Given the description of an element on the screen output the (x, y) to click on. 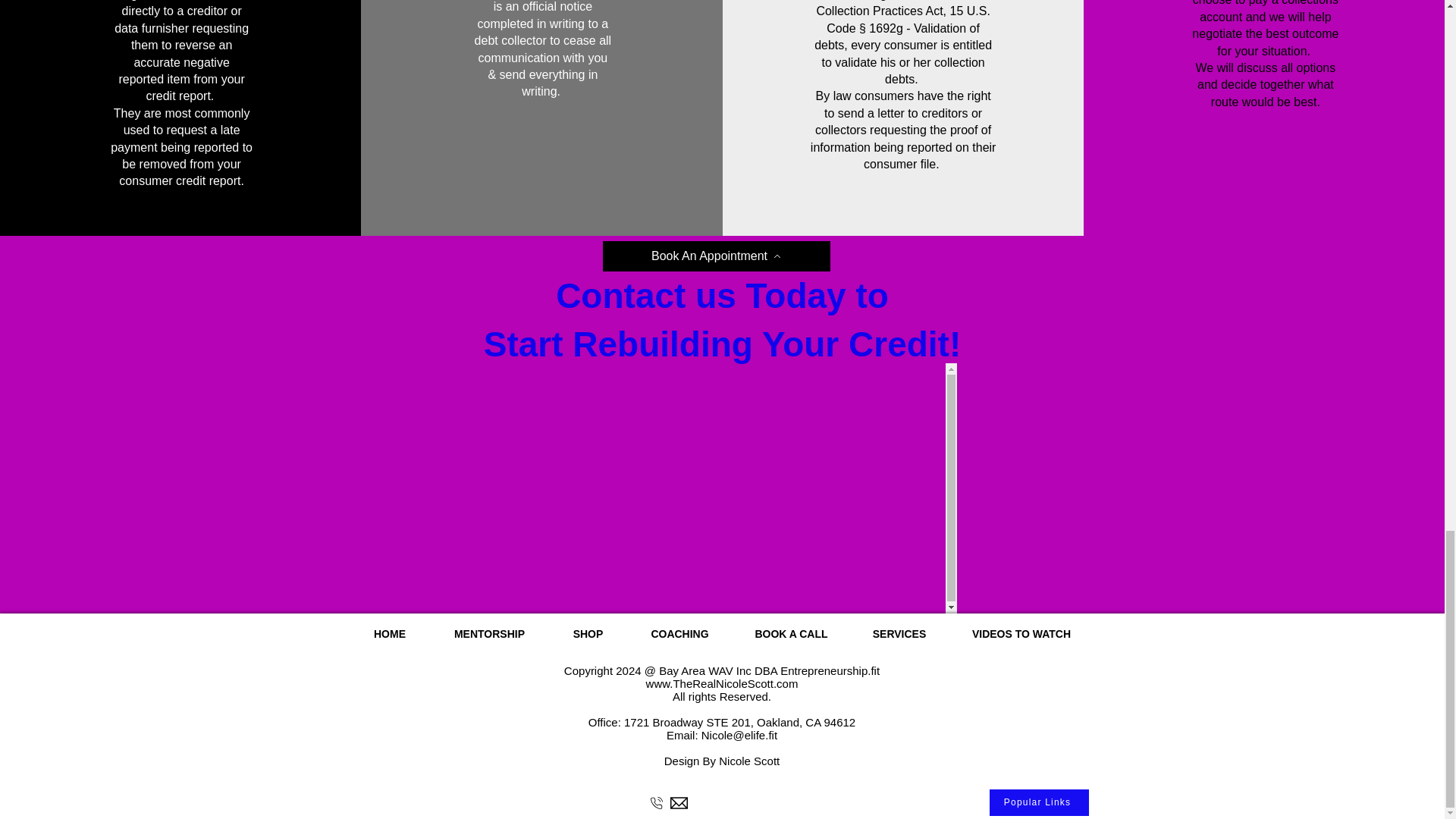
SERVICES (899, 633)
Embedded Content (734, 488)
VIDEOS TO WATCH (1021, 633)
COACHING (679, 633)
Book An Appointment (715, 255)
HOME (389, 633)
SHOP (587, 633)
BOOK A CALL (790, 633)
MENTORSHIP (489, 633)
